Given the description of an element on the screen output the (x, y) to click on. 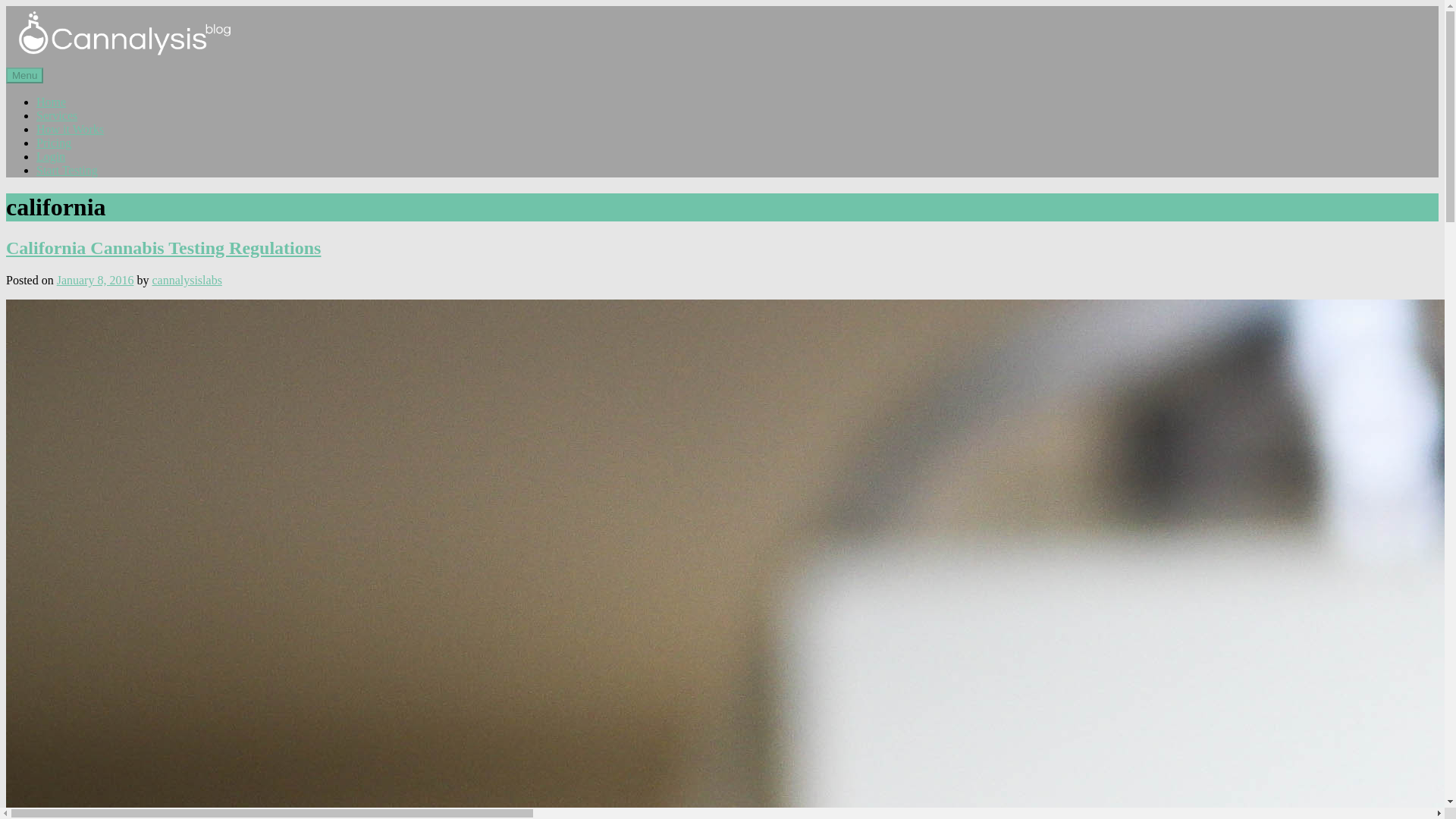
January 8, 2016 (94, 279)
How it Works (69, 128)
Pricing (53, 142)
Login (50, 155)
Menu (24, 75)
cannalysislabs (186, 279)
California Cannabis Testing Regulations (162, 247)
Services (56, 115)
Start Testing (66, 169)
Home (50, 101)
